Given the description of an element on the screen output the (x, y) to click on. 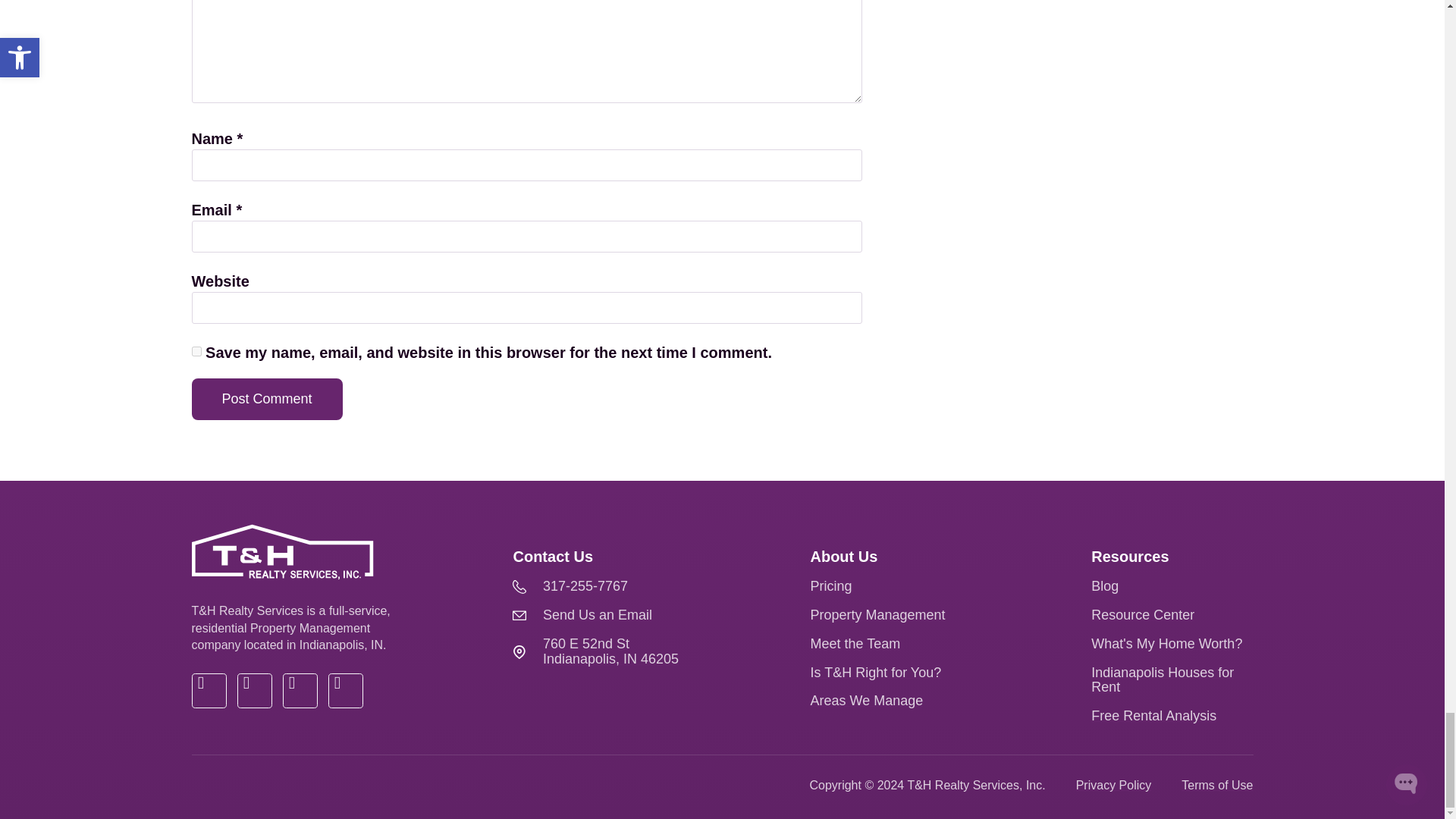
yes (195, 351)
Post Comment (266, 399)
